Given the description of an element on the screen output the (x, y) to click on. 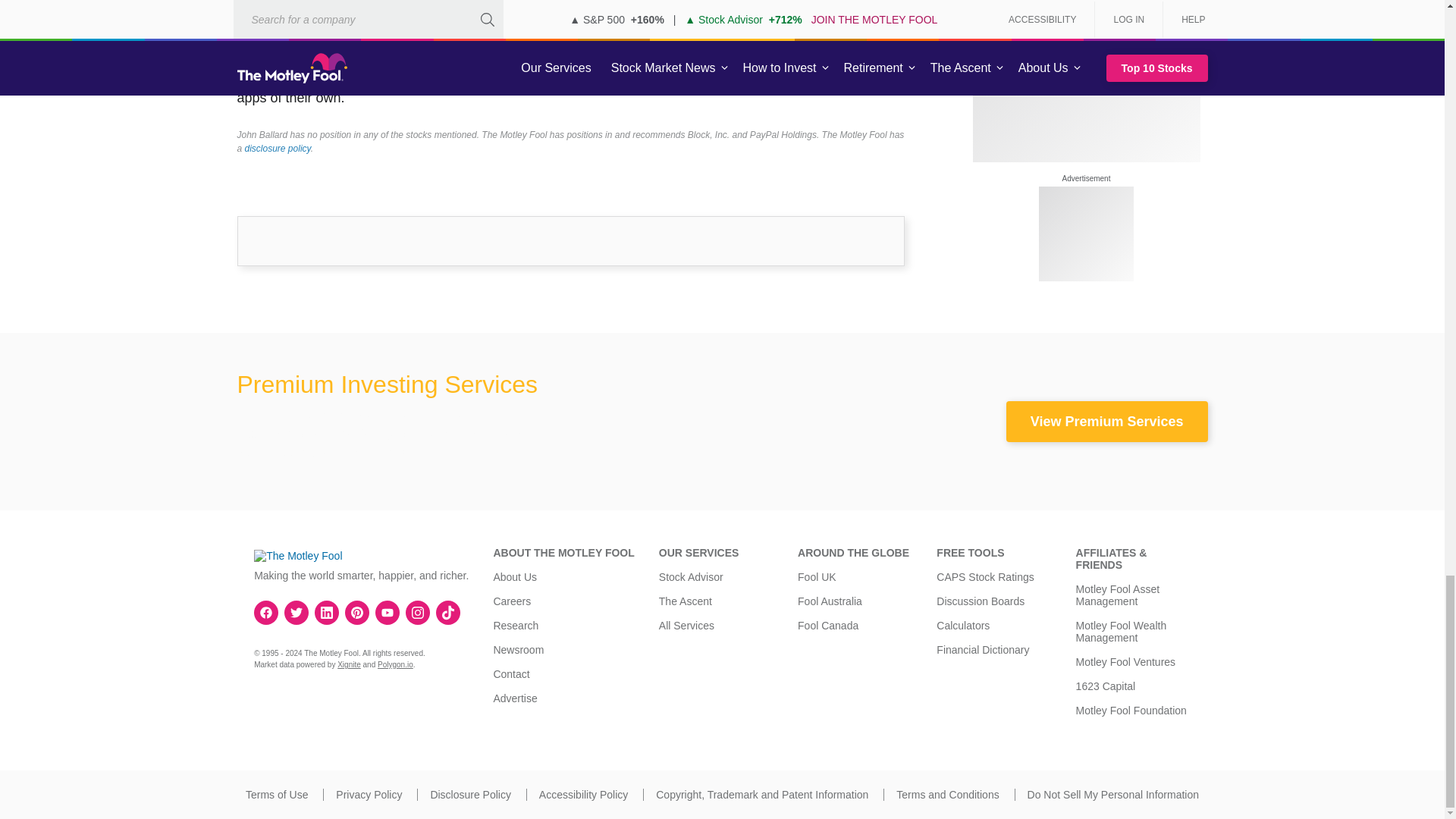
Terms of Use (276, 794)
Terms and Conditions (947, 794)
Accessibility Policy (582, 794)
Do Not Sell My Personal Information. (1112, 794)
Copyright, Trademark and Patent Information (761, 794)
Privacy Policy (368, 794)
Disclosure Policy (470, 794)
